Given the description of an element on the screen output the (x, y) to click on. 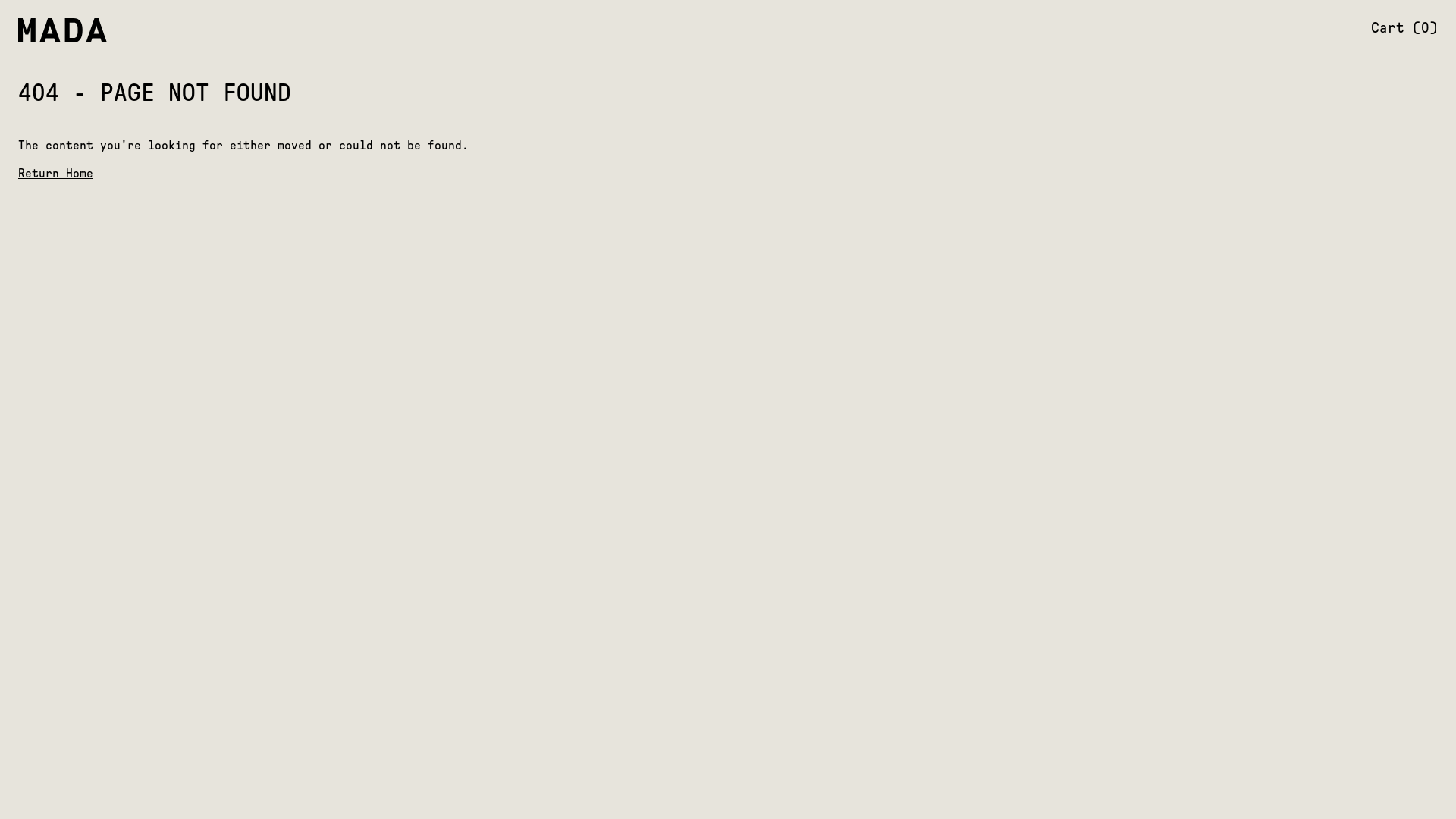
Cart 0 Element type: text (1404, 27)
Return Home Element type: text (55, 173)
